Given the description of an element on the screen output the (x, y) to click on. 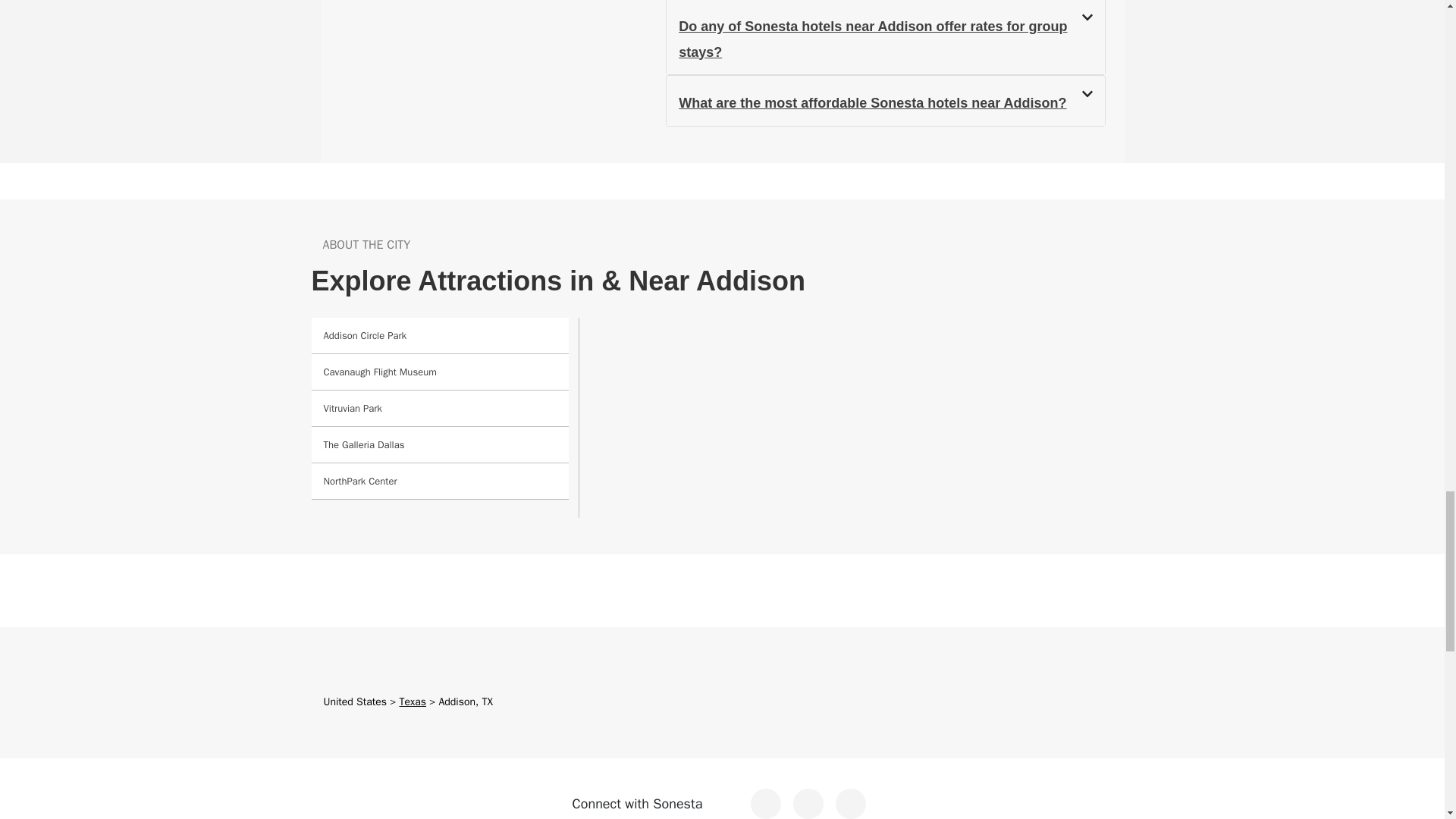
What are the most affordable Sonesta hotels near Addison? (871, 102)
